Given the description of an element on the screen output the (x, y) to click on. 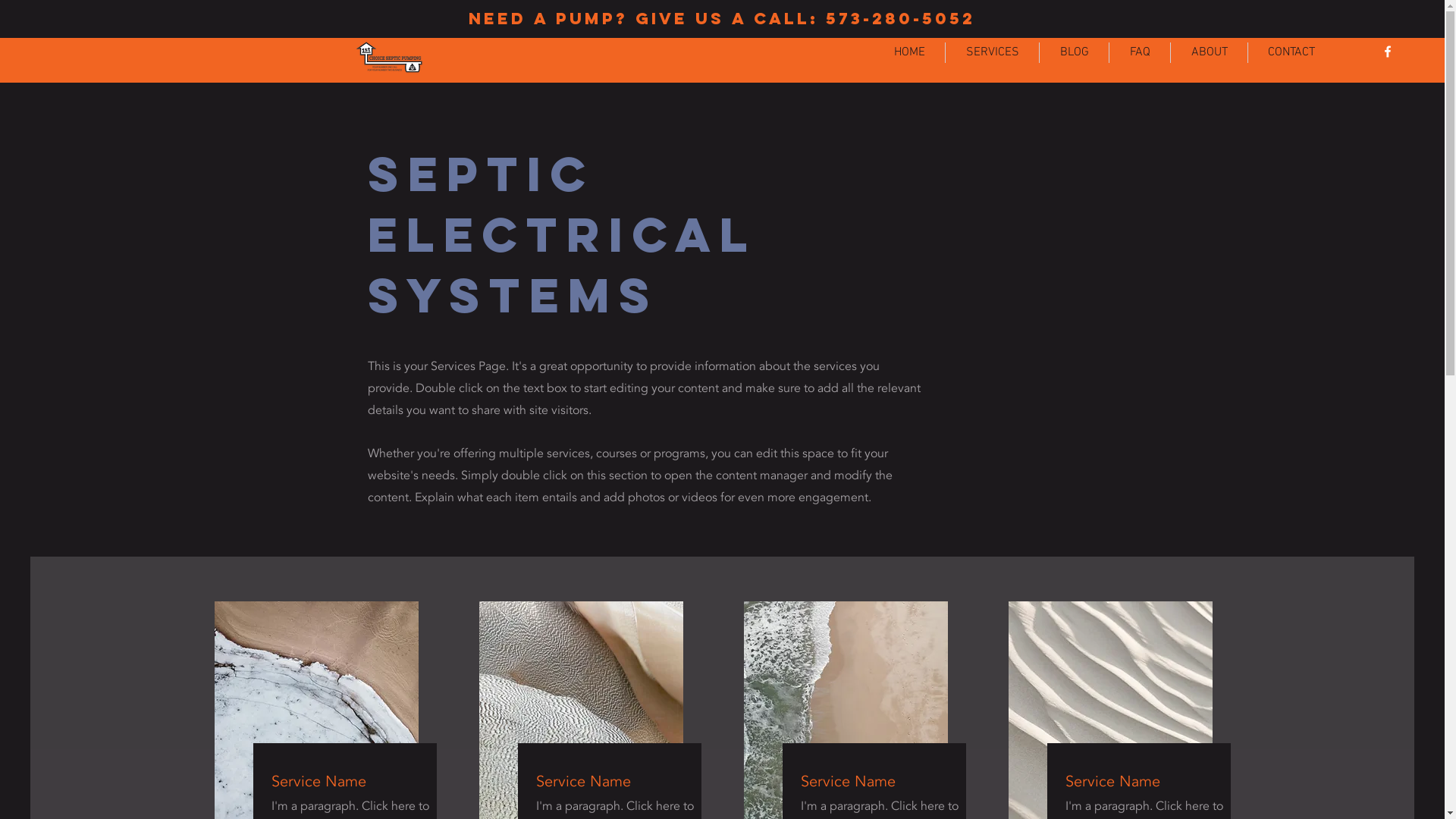
SERVICES Element type: text (991, 52)
BLOG Element type: text (1073, 52)
FAQ Element type: text (1139, 52)
ABOUT Element type: text (1208, 52)
CONTACT Element type: text (1291, 52)
1stChoiceLogo.png Element type: hover (388, 56)
HOME Element type: text (908, 52)
